Given the description of an element on the screen output the (x, y) to click on. 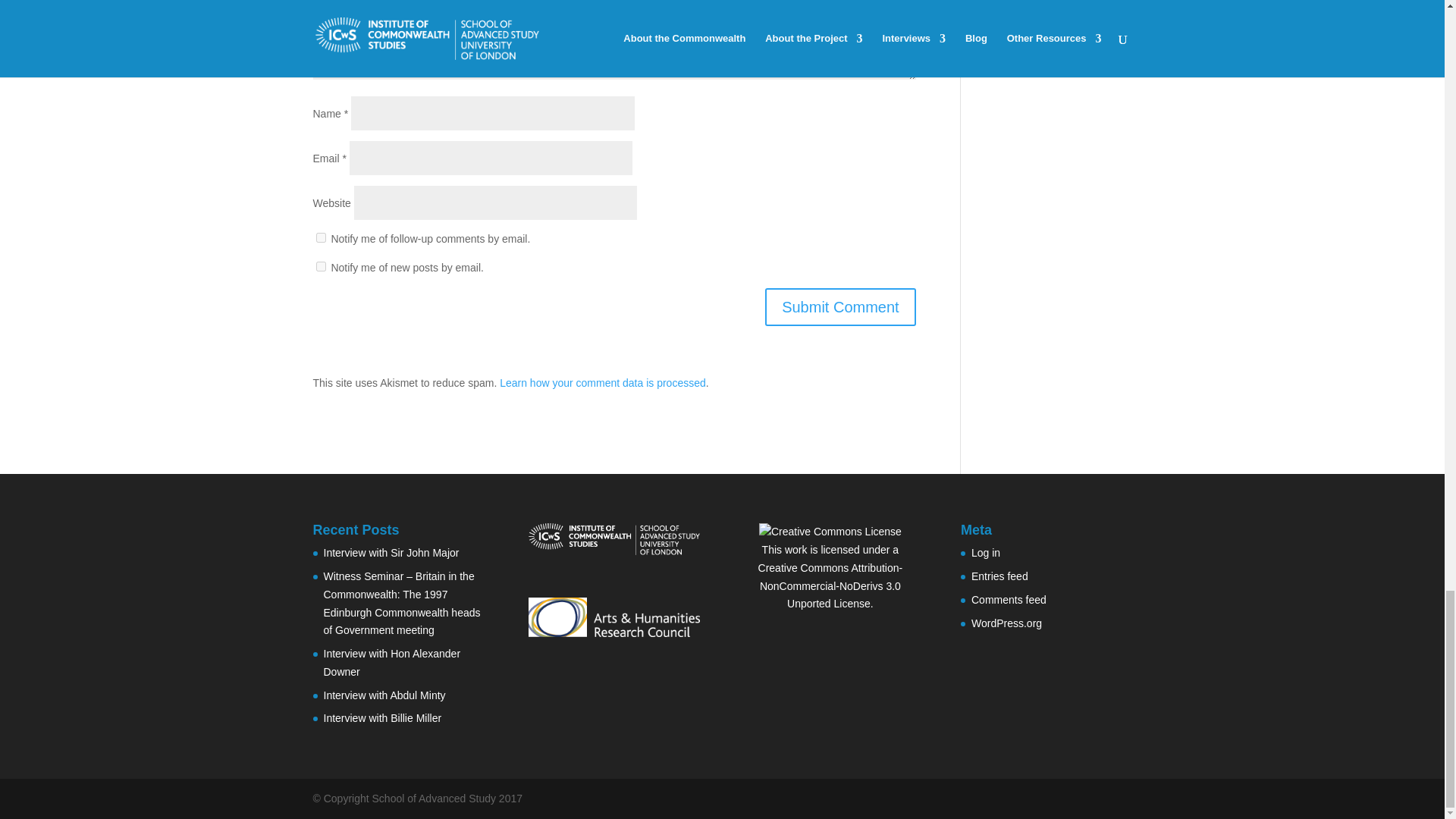
subscribe (319, 266)
Submit Comment (840, 306)
subscribe (319, 237)
